Given the description of an element on the screen output the (x, y) to click on. 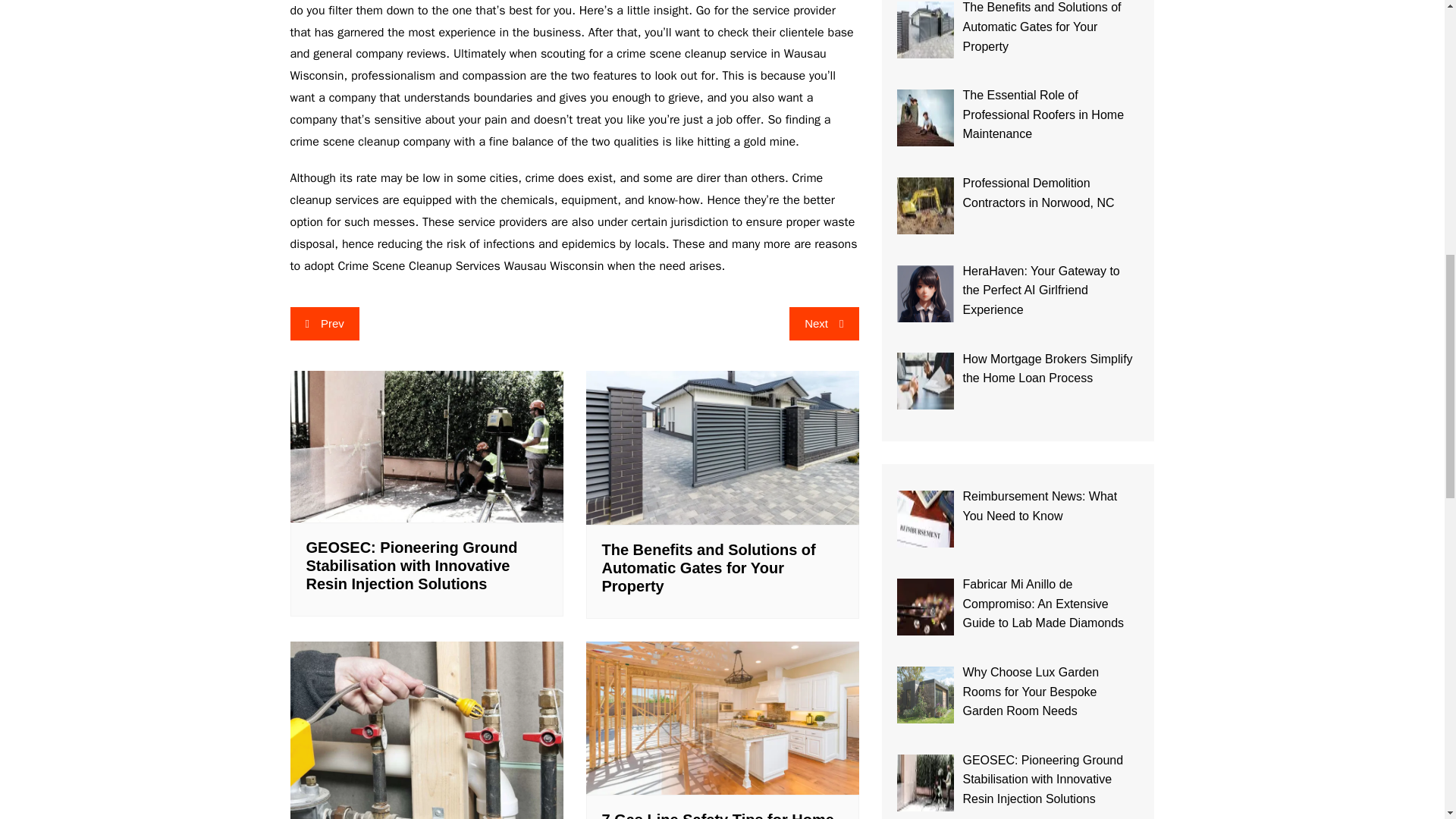
Reimbursement News: What You Need to Know (924, 518)
7 Gas Line Safety Tips for Home Renovation Projects (722, 718)
How Mortgage Brokers Simplify the Home Loan Process (924, 380)
Gas Plumber (425, 730)
HeraHaven (924, 293)
Roofers (924, 117)
